Given the description of an element on the screen output the (x, y) to click on. 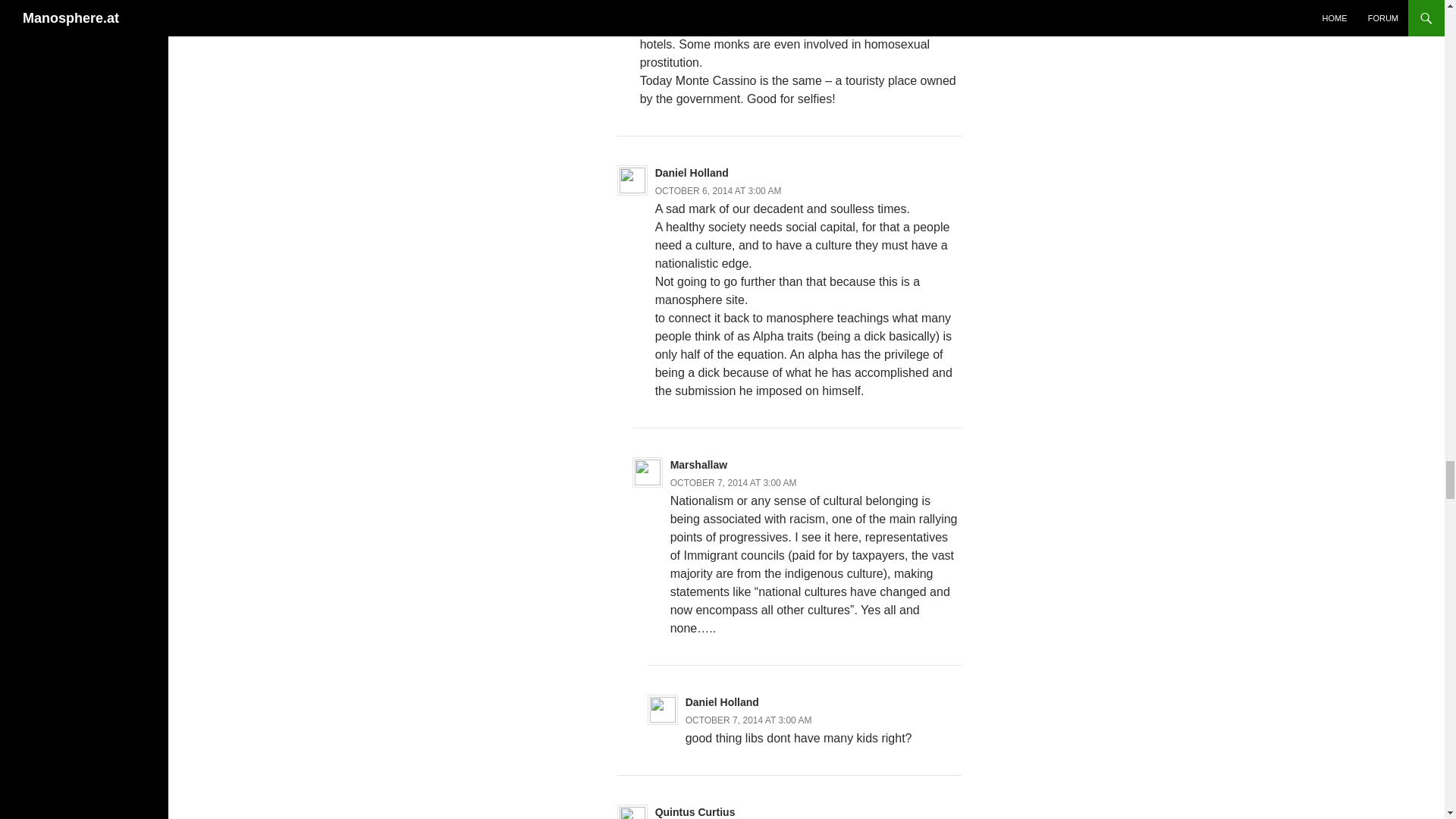
OCTOBER 7, 2014 AT 3:00 AM (732, 482)
Marshallaw (697, 464)
OCTOBER 7, 2014 AT 3:00 AM (748, 719)
OCTOBER 6, 2014 AT 3:00 AM (718, 190)
Quintus Curtius (695, 811)
